Given the description of an element on the screen output the (x, y) to click on. 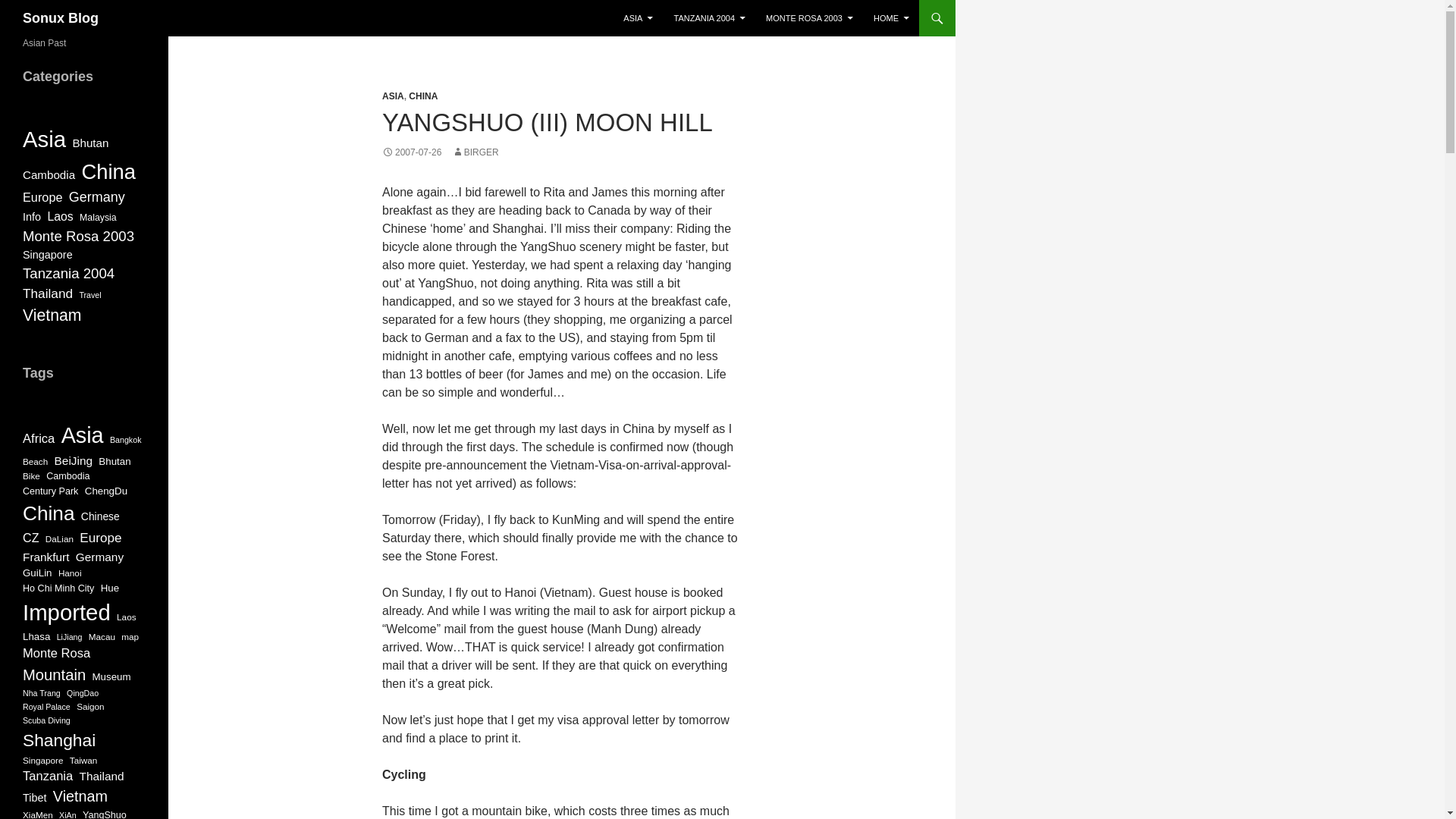
MONTE ROSA 2003 (809, 18)
Europe (42, 197)
ASIA (638, 18)
2007-07-26 (411, 152)
Sonux Blog (61, 18)
CHINA (423, 95)
China (108, 171)
HOME (891, 18)
TANZANIA 2004 (708, 18)
Germany (96, 197)
Asia (44, 139)
Cambodia (49, 175)
ASIA (392, 95)
BIRGER (475, 152)
Bhutan (89, 143)
